Given the description of an element on the screen output the (x, y) to click on. 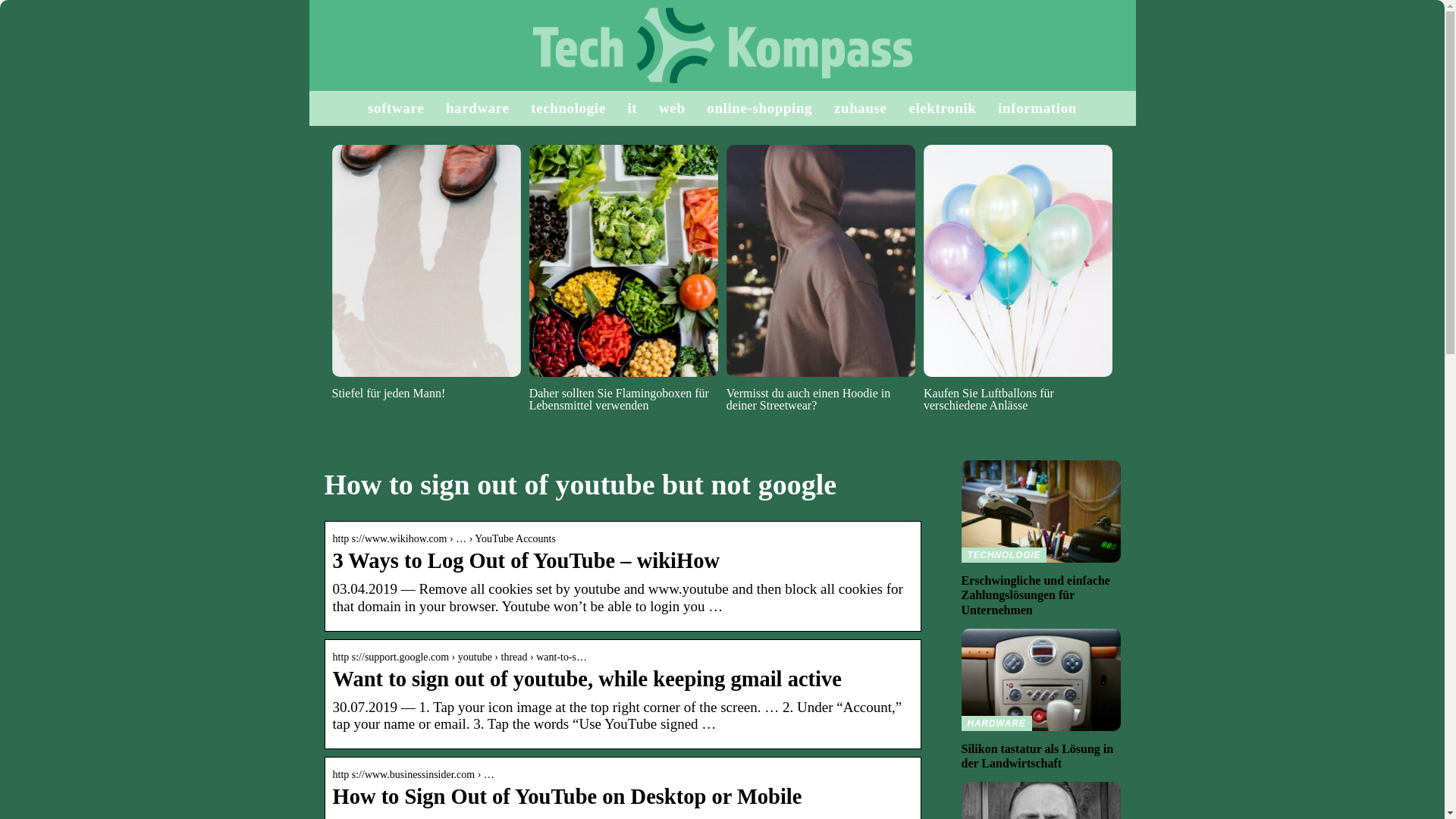
elektronik (941, 107)
online-shopping (759, 107)
technologie (568, 107)
hardware (477, 107)
information (1037, 107)
web (672, 107)
zuhause (860, 107)
software (395, 107)
